Given the description of an element on the screen output the (x, y) to click on. 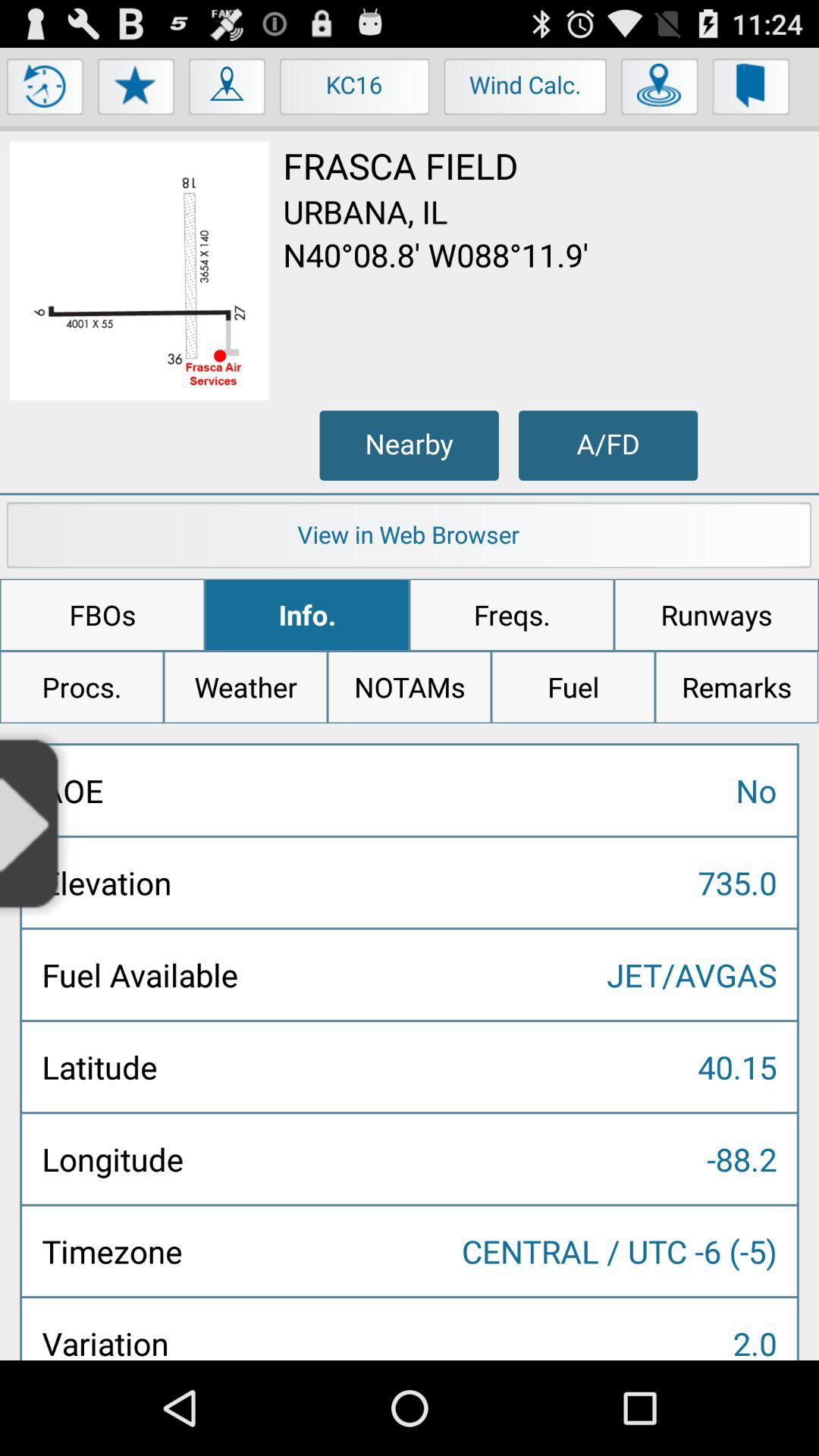
select the item above the no icon (409, 687)
